Given the description of an element on the screen output the (x, y) to click on. 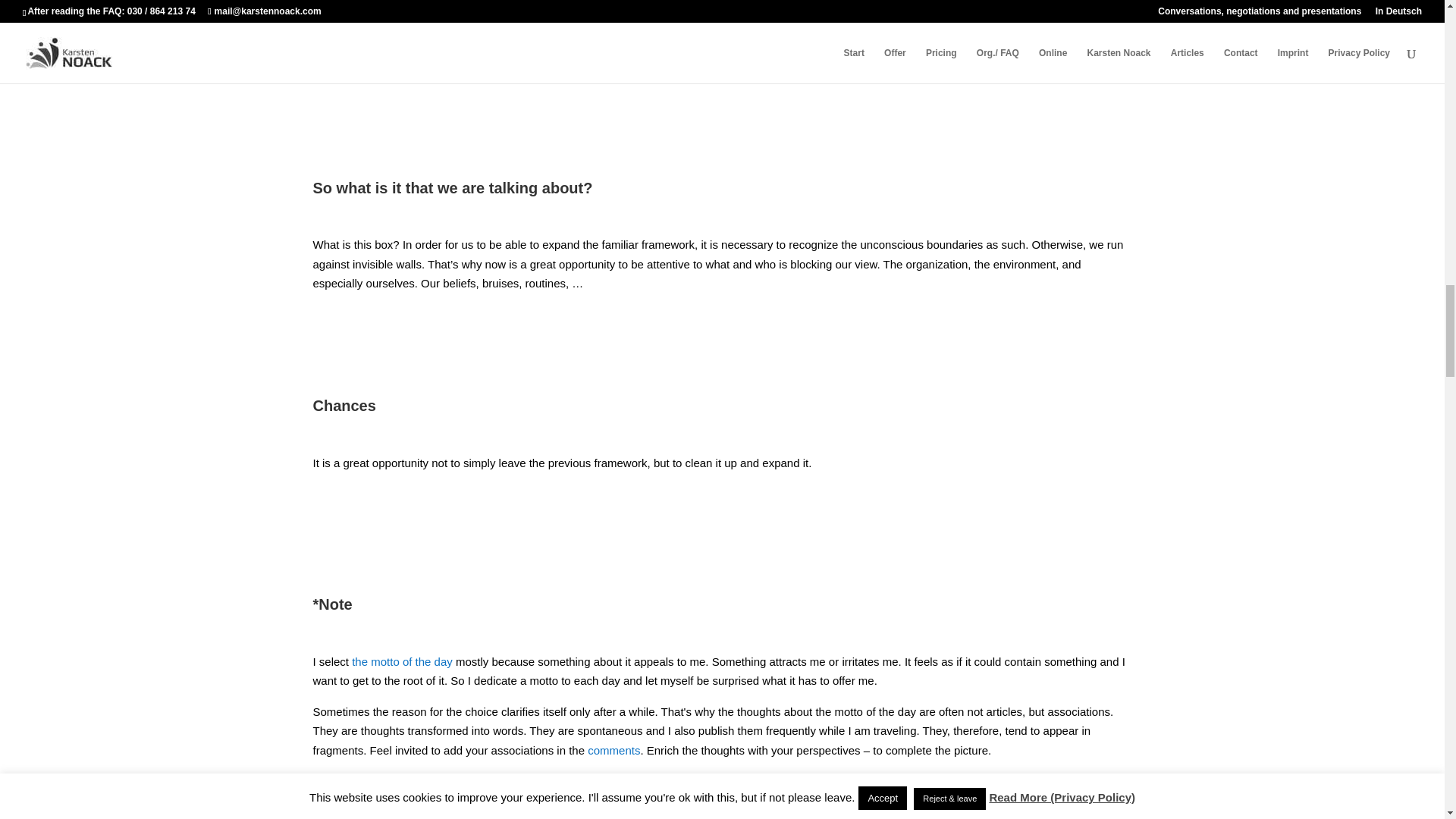
comments (614, 749)
the motto of the day (402, 661)
